Given the description of an element on the screen output the (x, y) to click on. 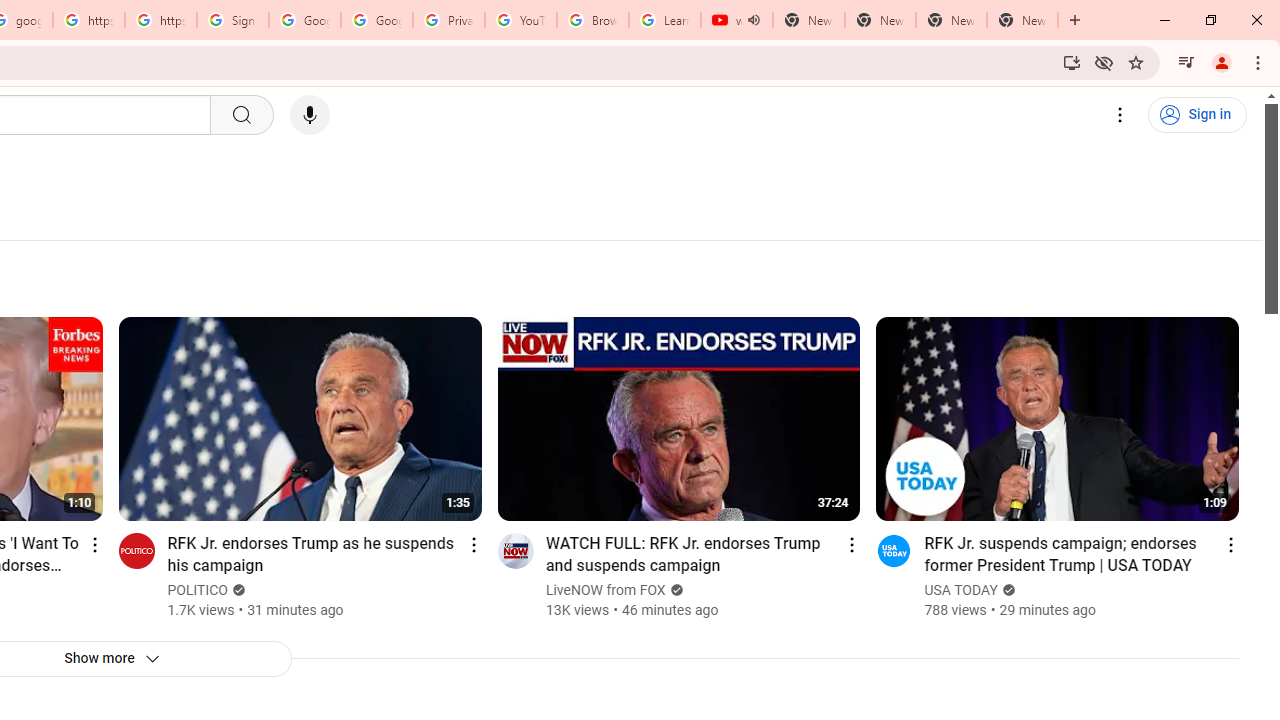
YouTube (520, 20)
Sign in - Google Accounts (232, 20)
